Given the description of an element on the screen output the (x, y) to click on. 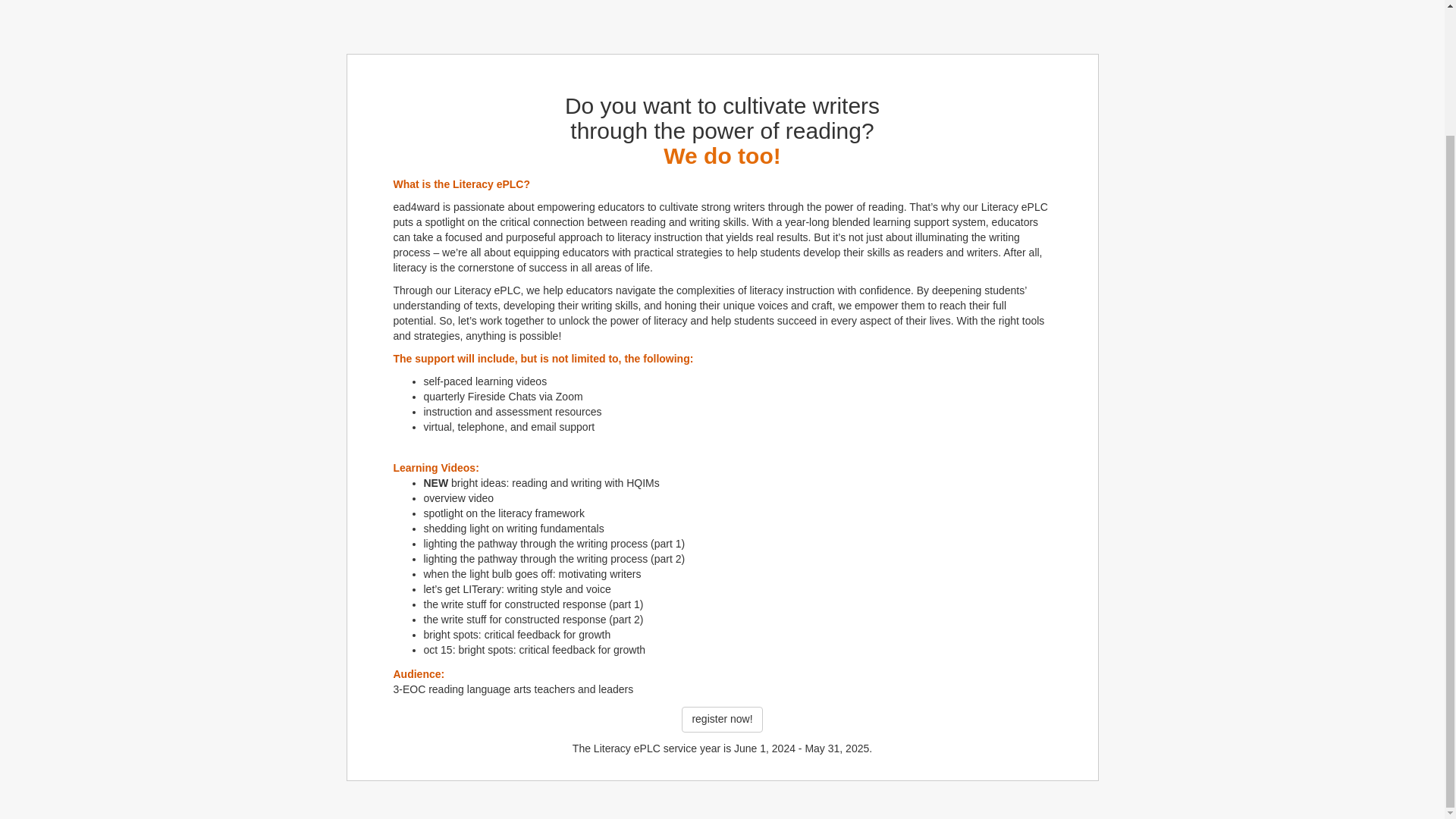
register now! (721, 719)
